Given the description of an element on the screen output the (x, y) to click on. 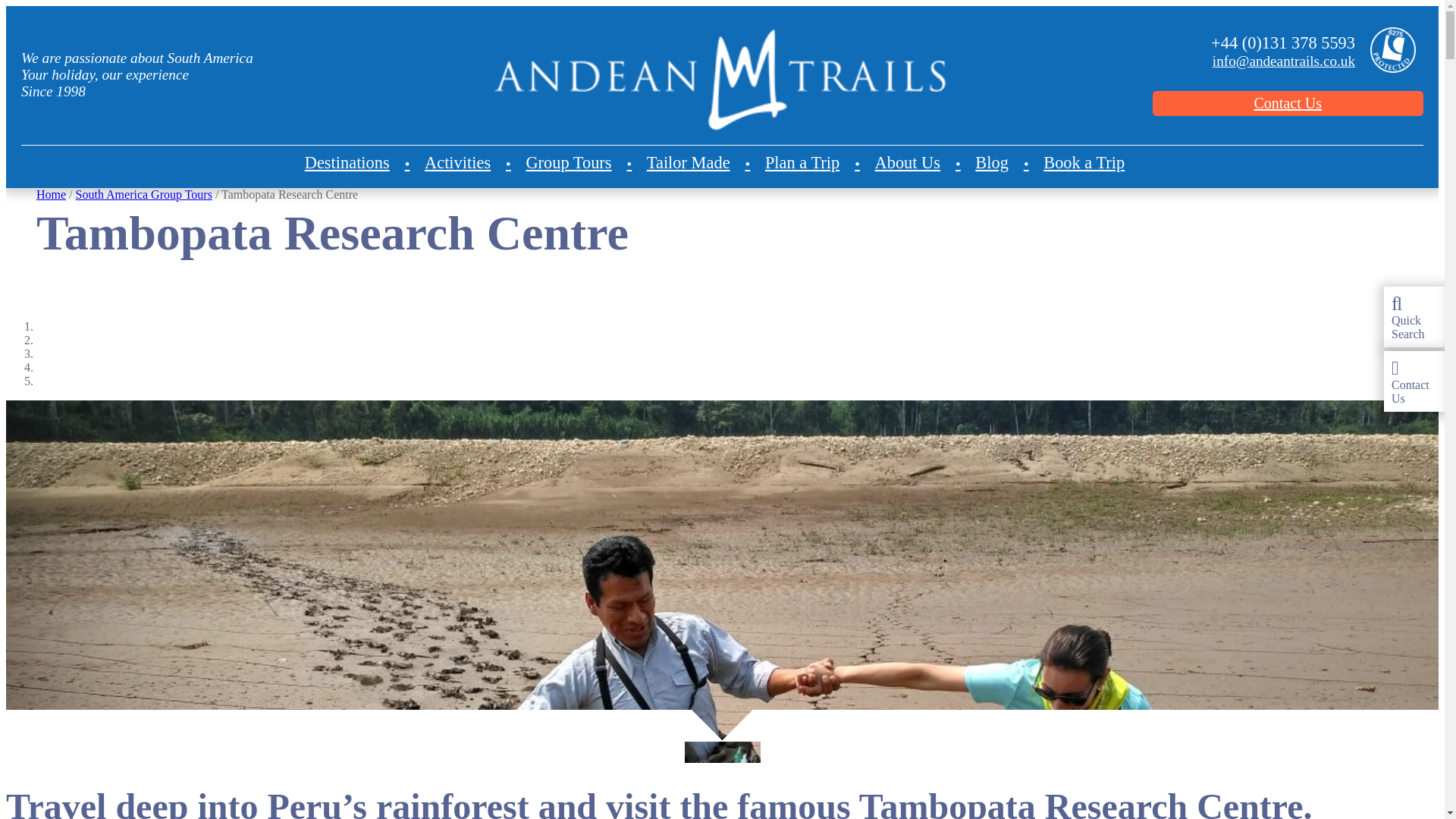
Activities (467, 162)
ATOL (1389, 51)
Contact Us (1288, 103)
Destinations (356, 162)
Go to South America Group Tours. (143, 194)
Go to Andean Trails. (50, 194)
